Given the description of an element on the screen output the (x, y) to click on. 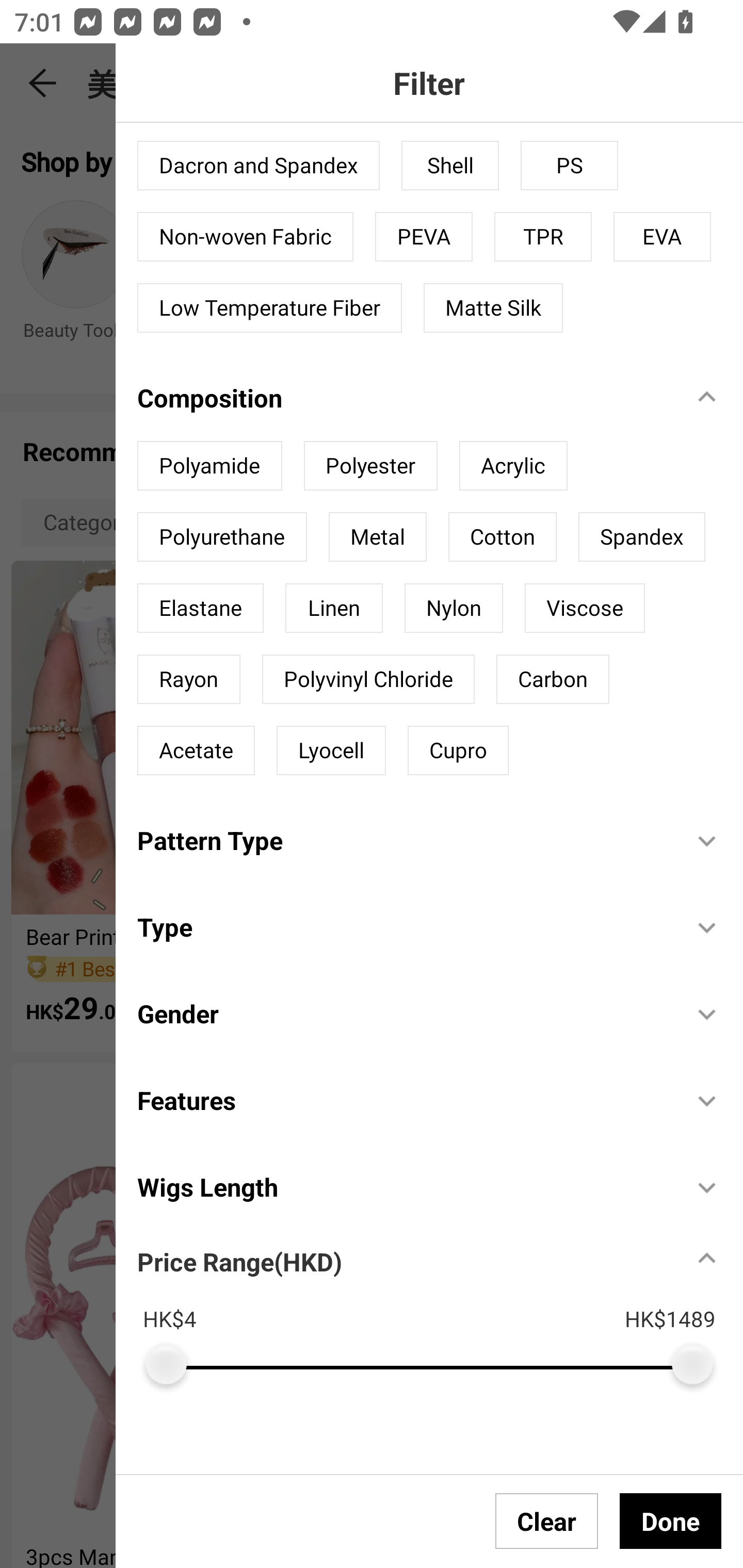
Dacron and Spandex (258, 165)
Shell (450, 165)
PS (569, 165)
Non-woven Fabric (245, 236)
PEVA (423, 236)
TPR (543, 236)
EVA (662, 236)
Low Temperature Fiber (269, 307)
Matte Silk (493, 307)
Composition (403, 397)
Polyamide (209, 465)
Polyester (370, 465)
Acrylic (513, 465)
Polyurethane (221, 536)
Metal (377, 536)
Cotton (502, 536)
Spandex (641, 536)
Elastane (200, 608)
Linen (333, 608)
Nylon (453, 608)
Viscose (584, 608)
Rayon (188, 678)
Polyvinyl Chloride (368, 678)
Carbon (552, 678)
Acetate (195, 749)
Lyocell (330, 749)
Cupro (457, 749)
Pattern Type (403, 840)
Type (403, 926)
Gender (403, 1013)
Features (403, 1099)
Wigs Length (403, 1186)
Price Range(HKD) (239, 1260)
Clear (546, 1520)
Done (670, 1520)
